Given the description of an element on the screen output the (x, y) to click on. 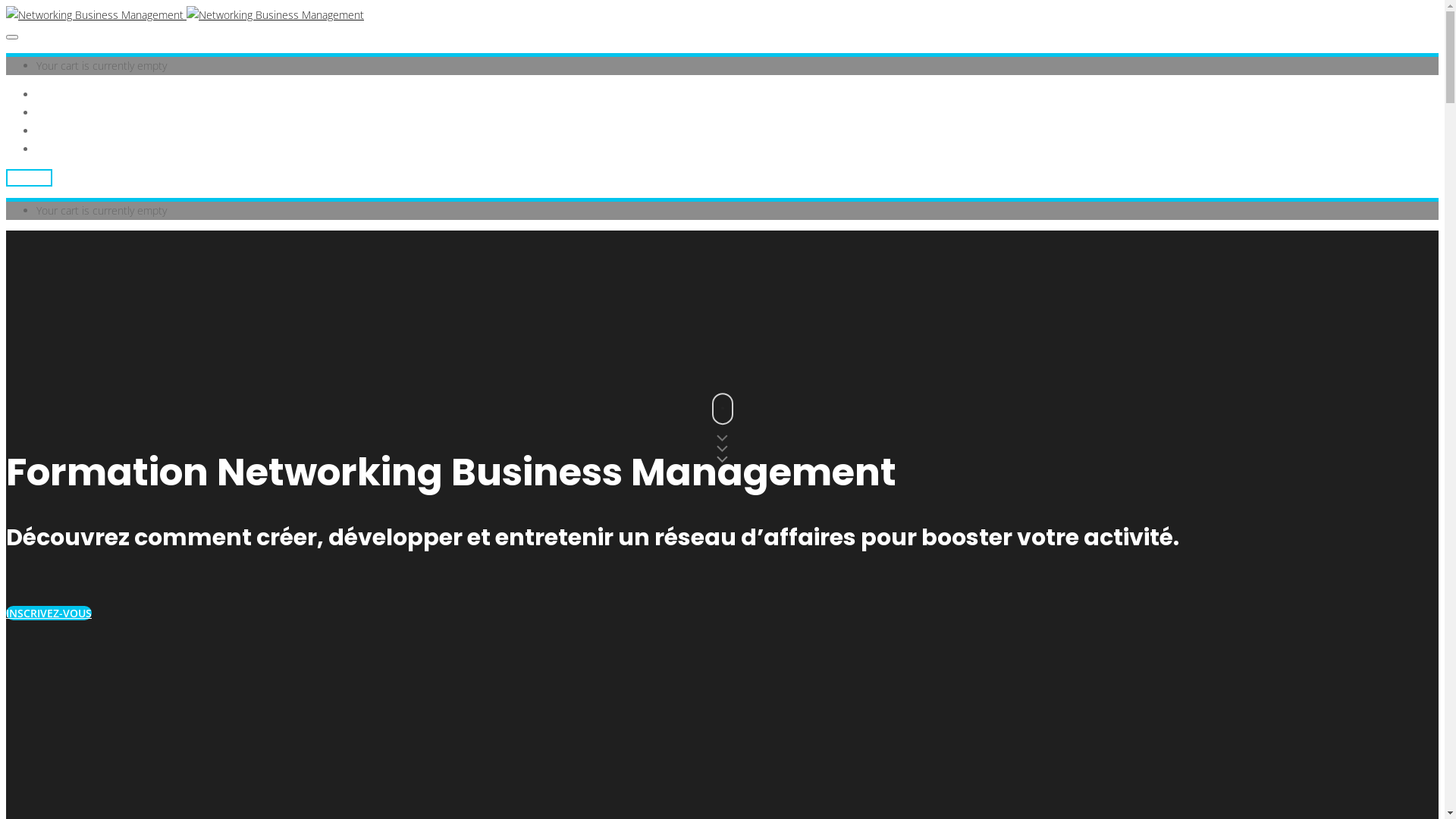
INSCRIVEZ-VOUS Element type: text (48, 612)
Mon compte Element type: text (66, 148)
Formateur Element type: text (60, 130)
Workshop Element type: text (60, 112)
Accueil Element type: text (52, 94)
S'inscrire Element type: text (29, 177)
